Given the description of an element on the screen output the (x, y) to click on. 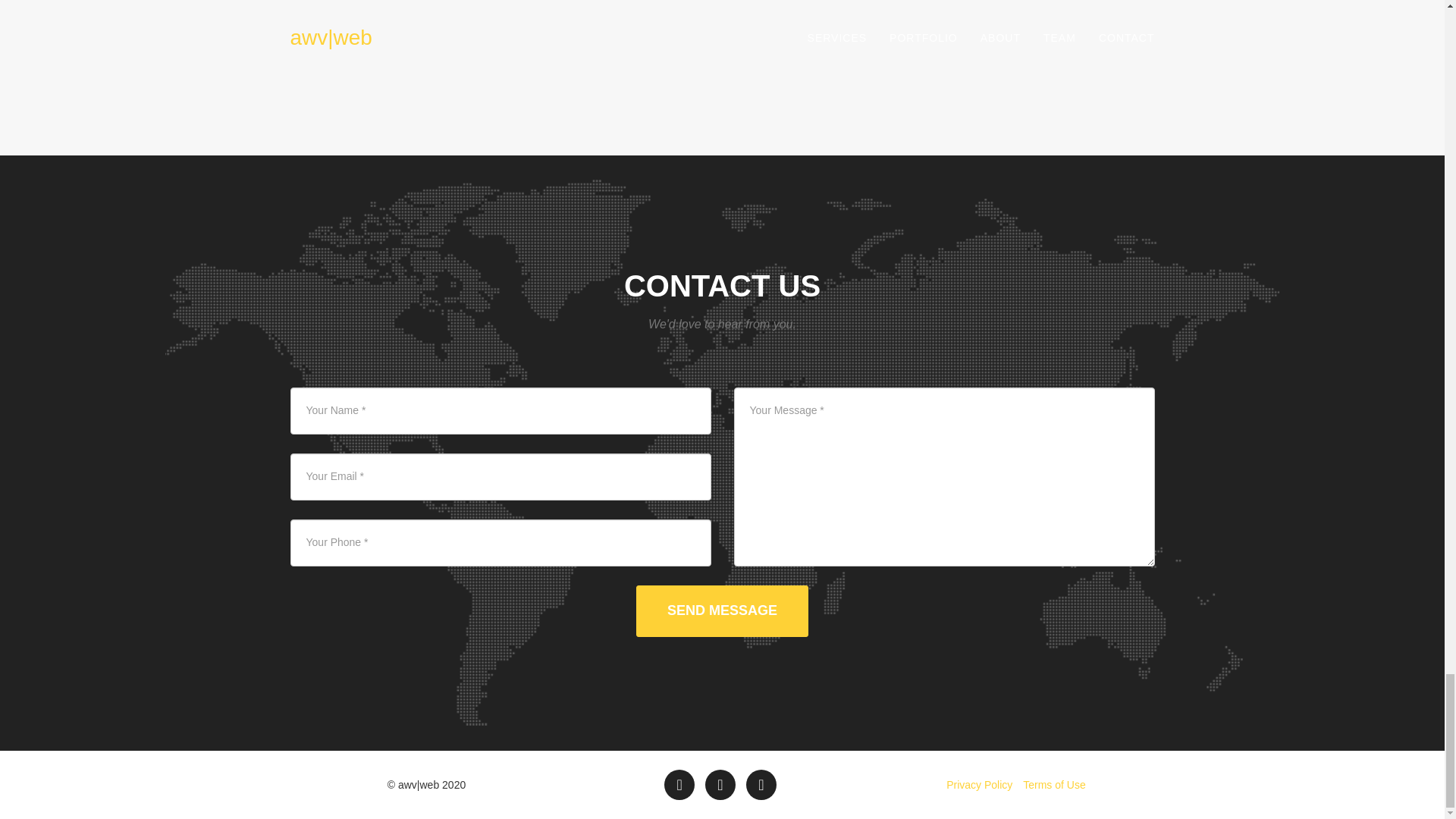
Privacy Policy (978, 784)
SEND MESSAGE (722, 611)
Terms of Use (1053, 784)
